Given the description of an element on the screen output the (x, y) to click on. 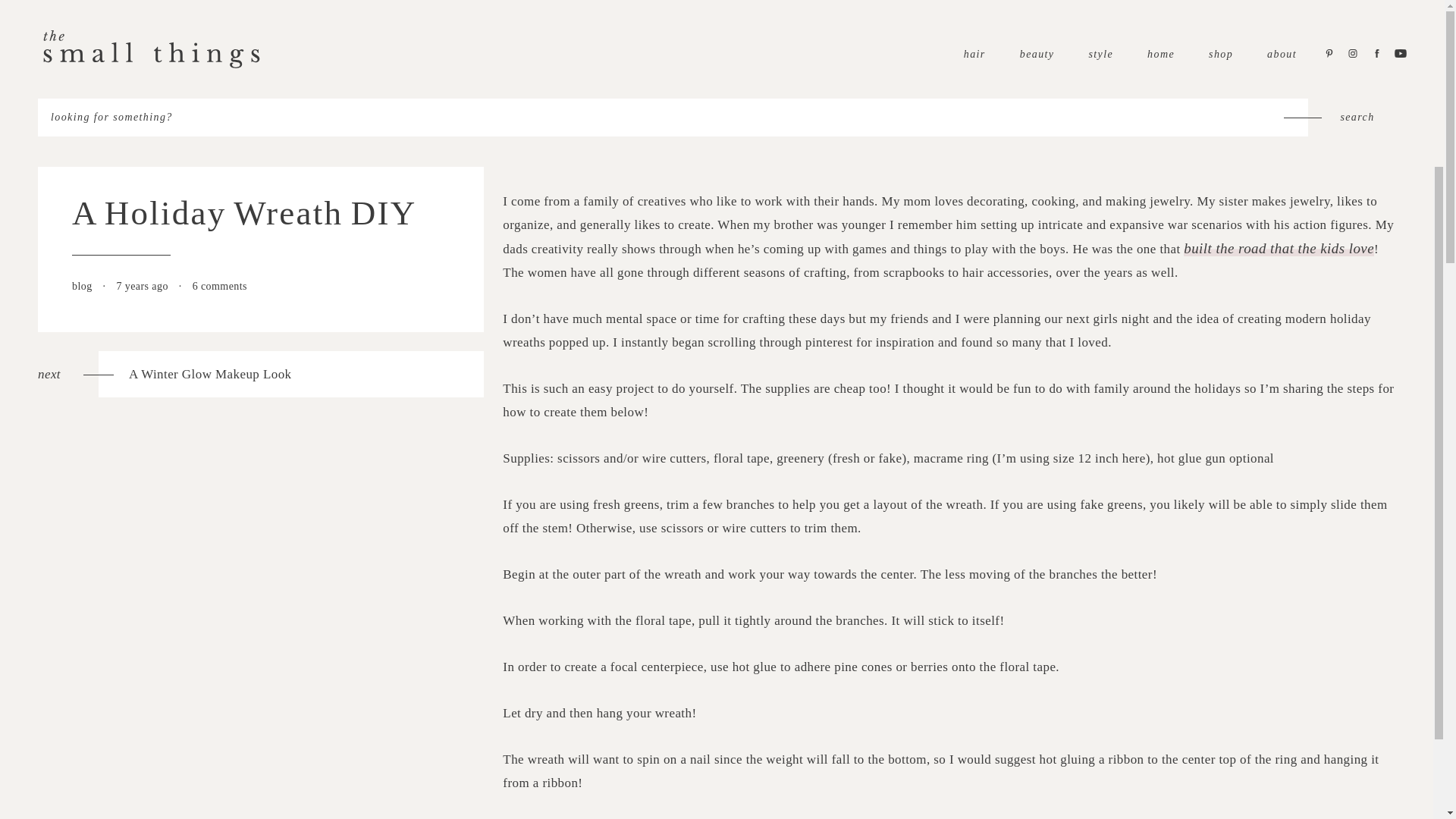
built the road that the kids love (1278, 248)
shop (260, 374)
search (1220, 53)
about (1356, 117)
search (1281, 53)
home (1356, 117)
blog (1160, 53)
style (83, 285)
beauty (1100, 53)
search (1037, 53)
hair (1356, 117)
